Given the description of an element on the screen output the (x, y) to click on. 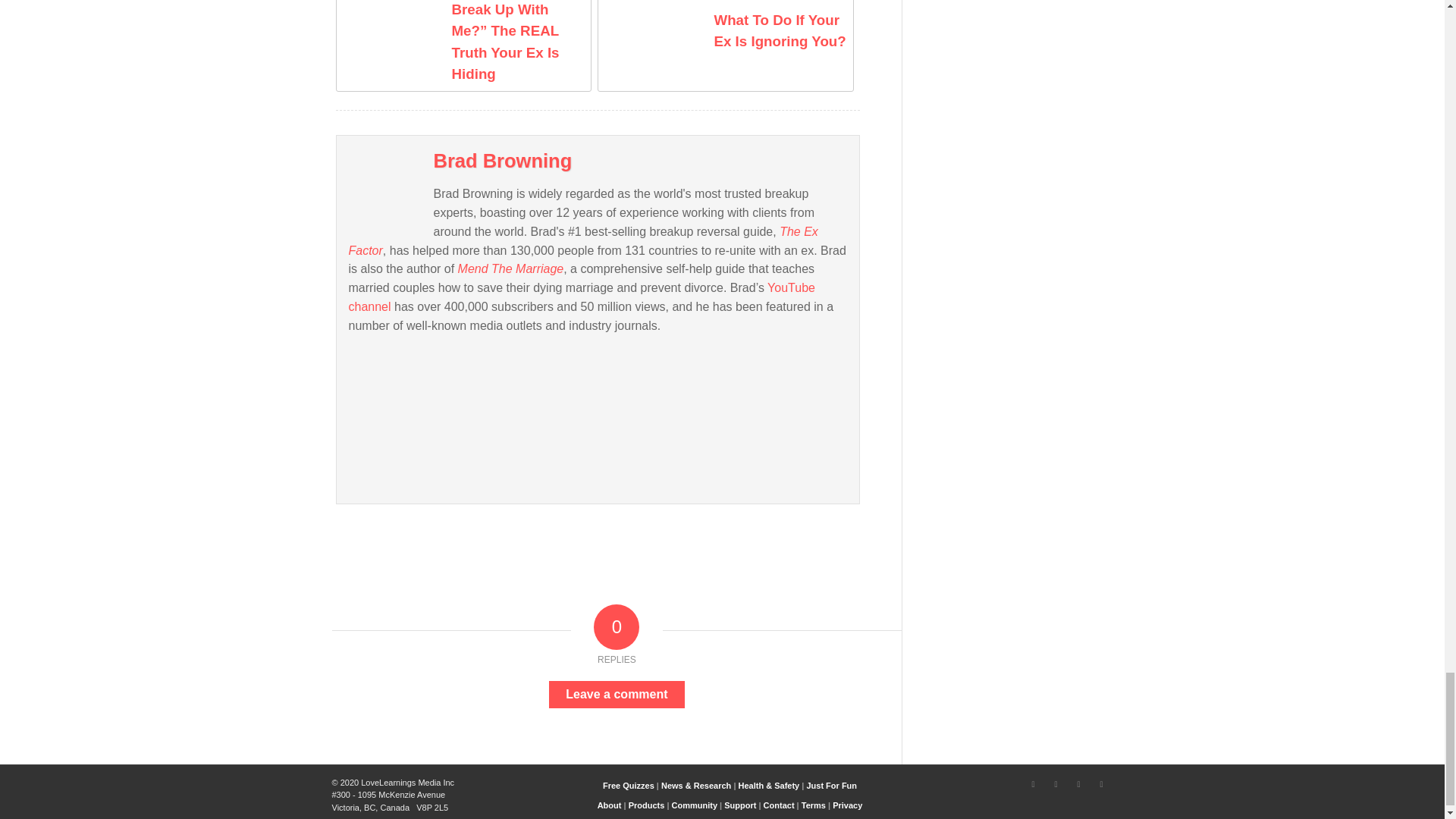
Facebook (1056, 784)
Youtube (1078, 784)
X (1033, 784)
Mail (1101, 784)
